Given the description of an element on the screen output the (x, y) to click on. 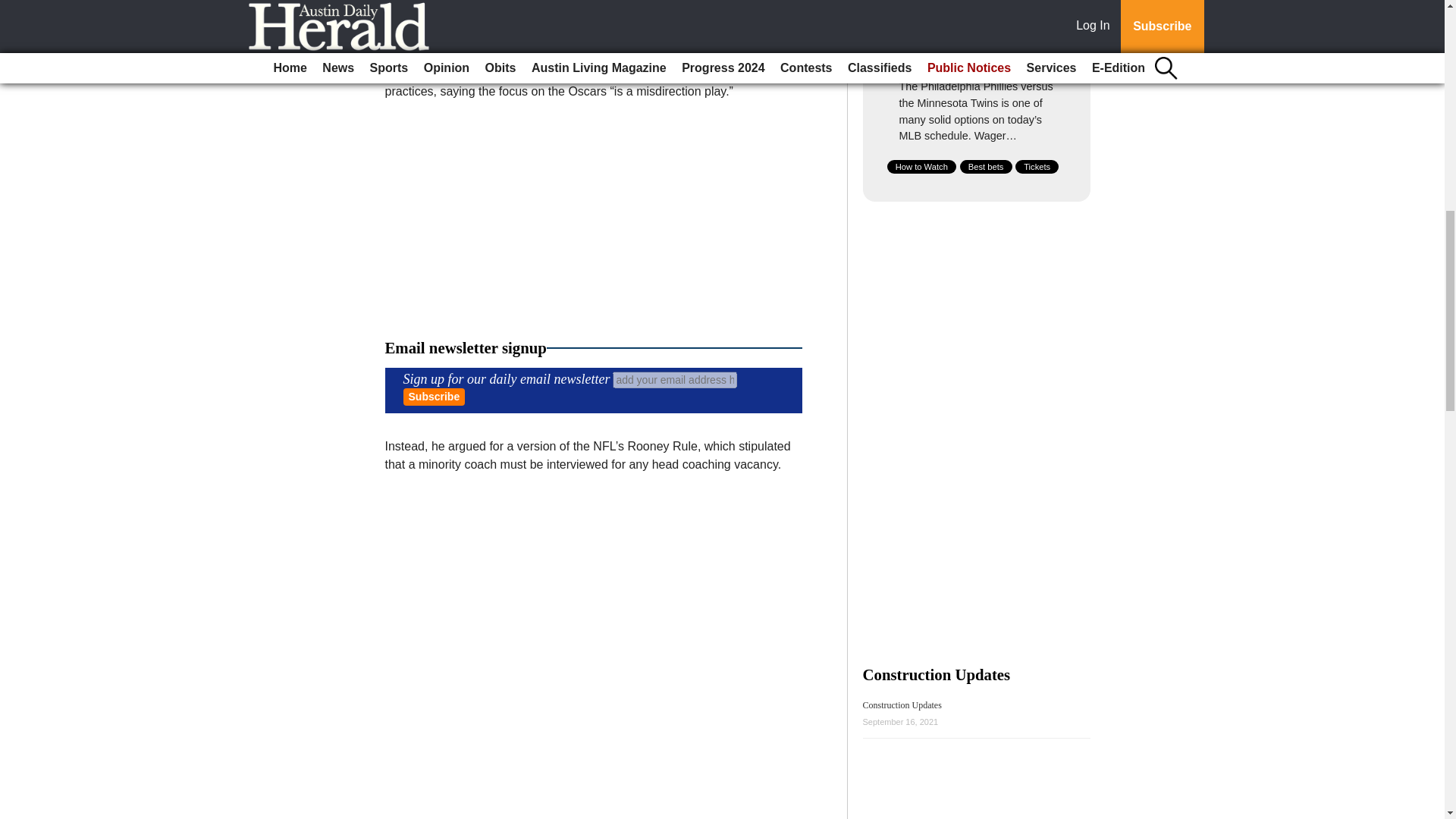
Subscribe (434, 396)
